Given the description of an element on the screen output the (x, y) to click on. 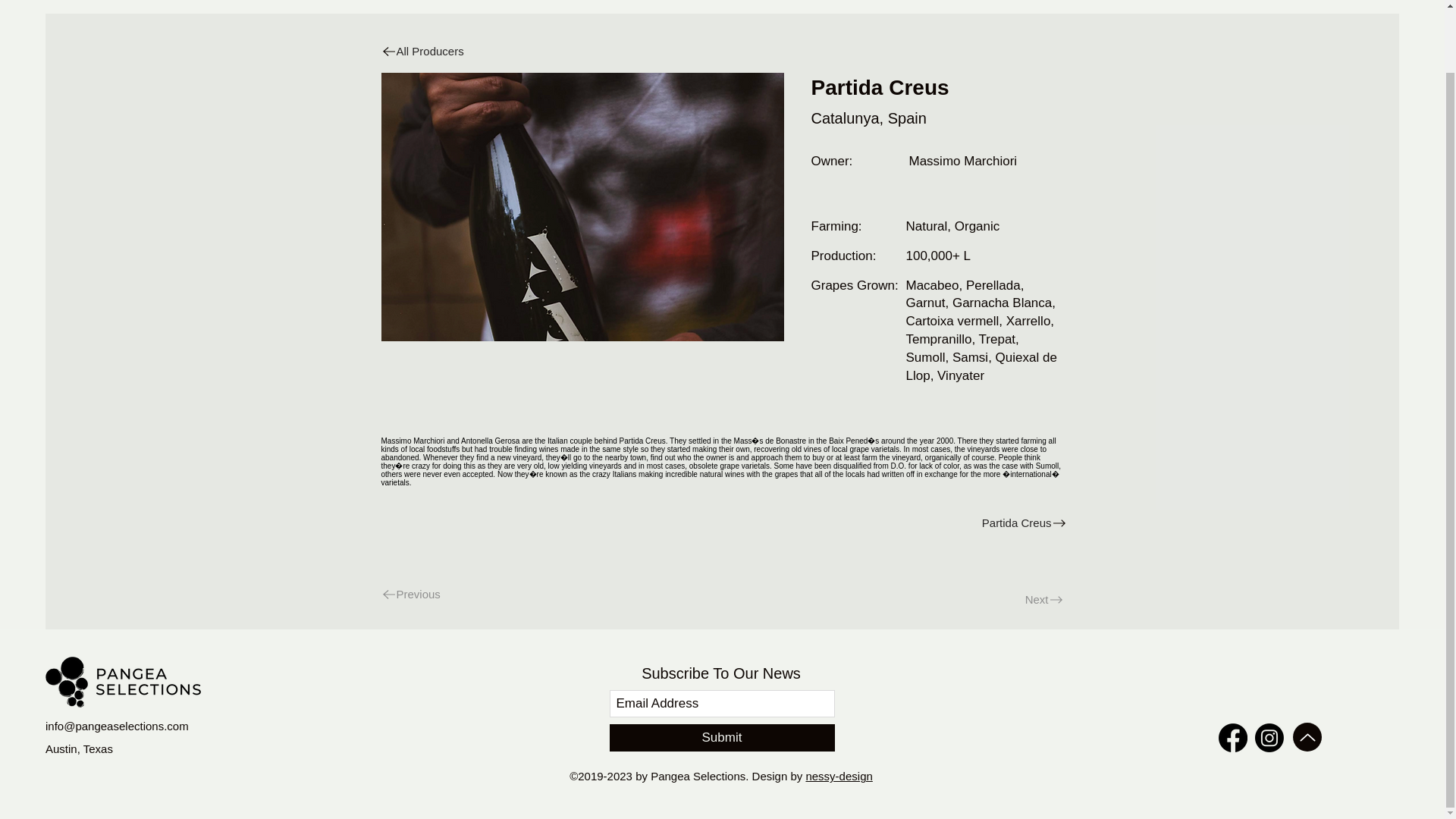
Next (1015, 599)
Previous (440, 593)
Partida Creus (898, 522)
Screen Shot 2024-02-15 at 8.08.02 AM.png (581, 206)
nessy-design (838, 775)
All Producers (440, 50)
Submit (722, 737)
